Given the description of an element on the screen output the (x, y) to click on. 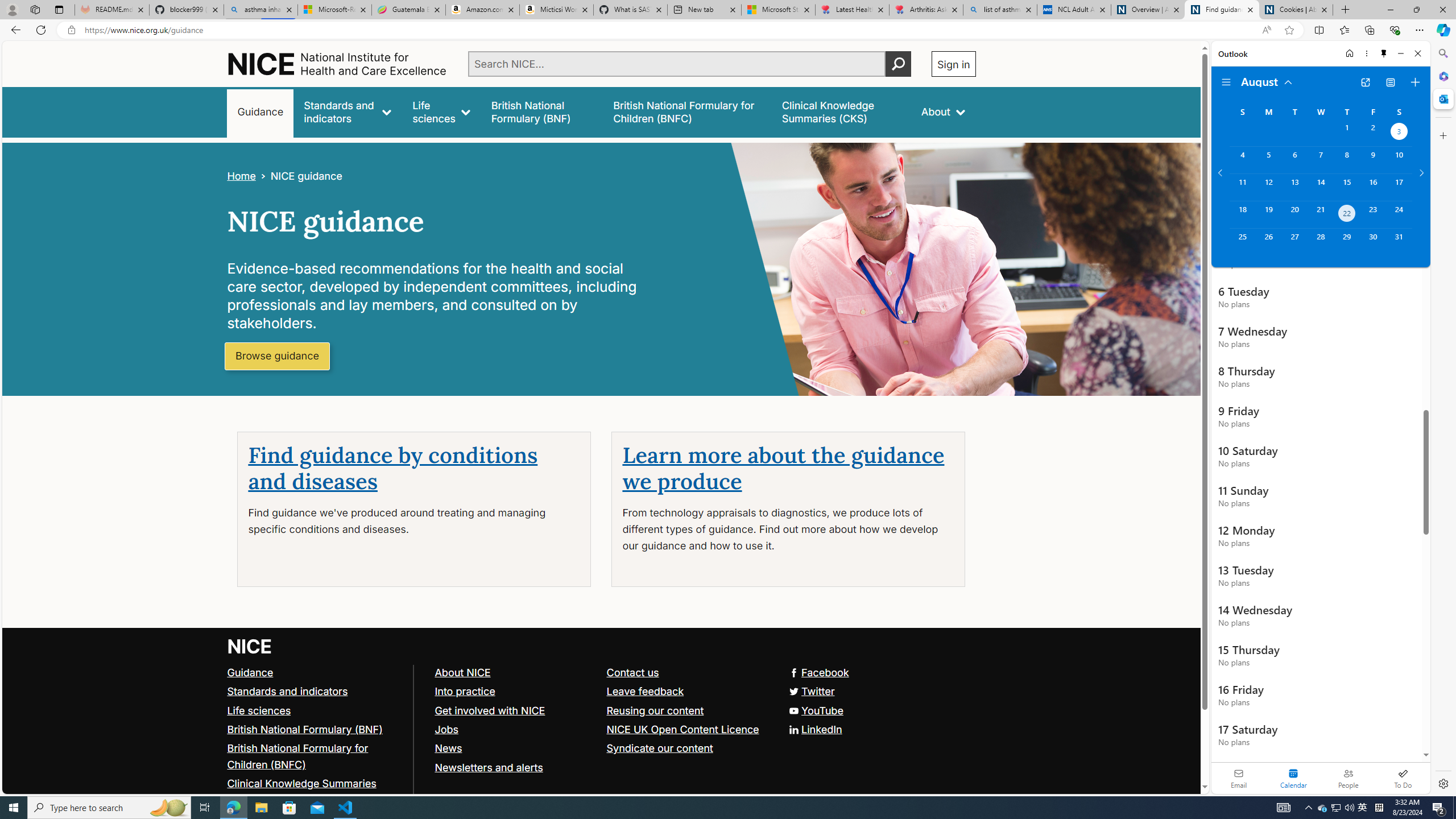
Email (1238, 777)
British National Formulary for Children (BNFC) (315, 756)
Guidance (315, 672)
Wednesday, August 21, 2024.  (1320, 214)
Reusing our content (686, 710)
Tuesday, August 6, 2024.  (1294, 159)
Get involved with NICE (514, 710)
false (841, 111)
Cookies | About | NICE (1295, 9)
